Given the description of an element on the screen output the (x, y) to click on. 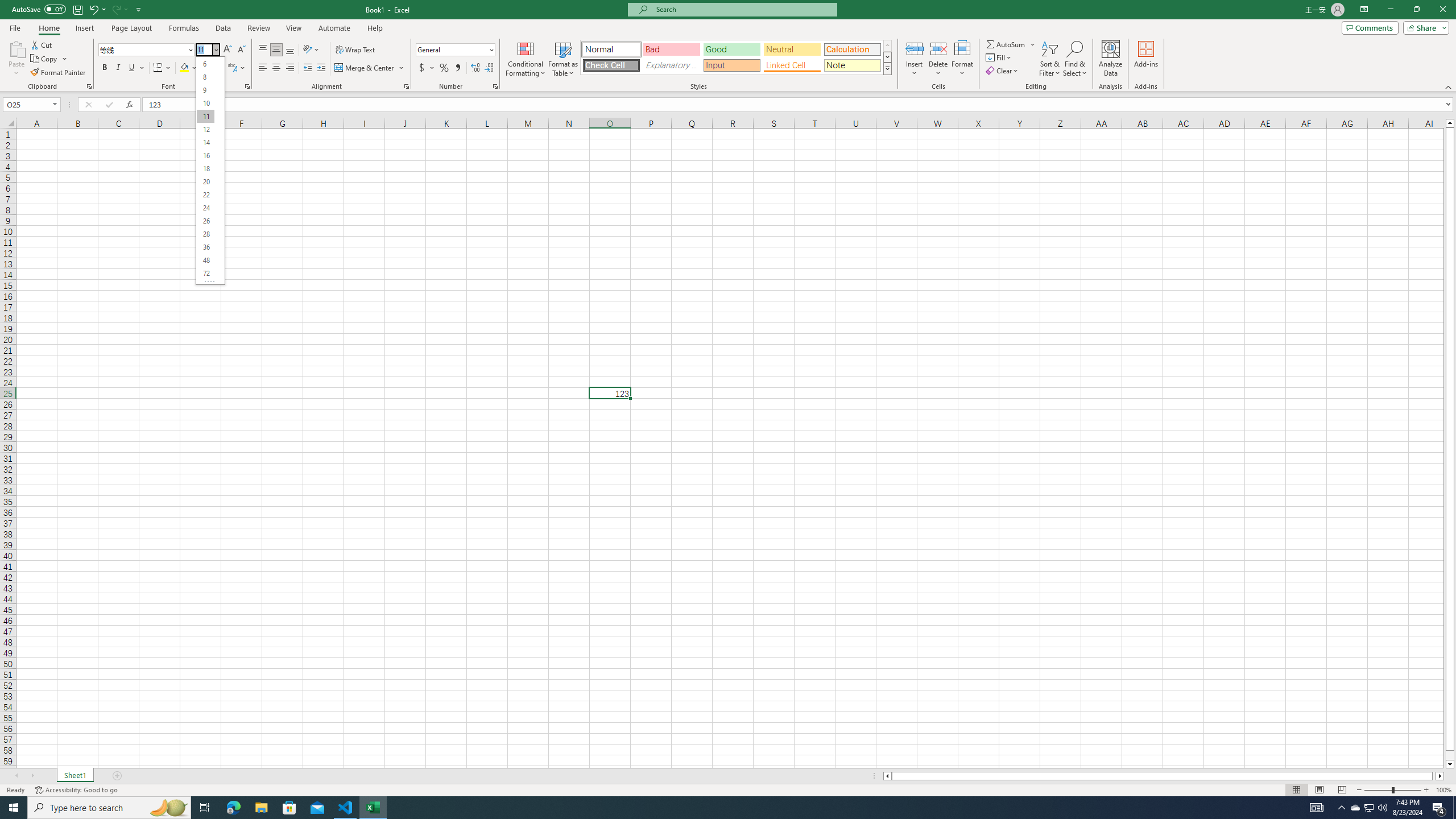
16 (205, 155)
20 (205, 181)
Font Size (204, 49)
Decrease Font Size (240, 49)
Underline (131, 67)
Italic (118, 67)
26 (205, 220)
Wrap Text (355, 49)
Paste (16, 48)
Middle Align (276, 49)
Calculation (852, 49)
